Given the description of an element on the screen output the (x, y) to click on. 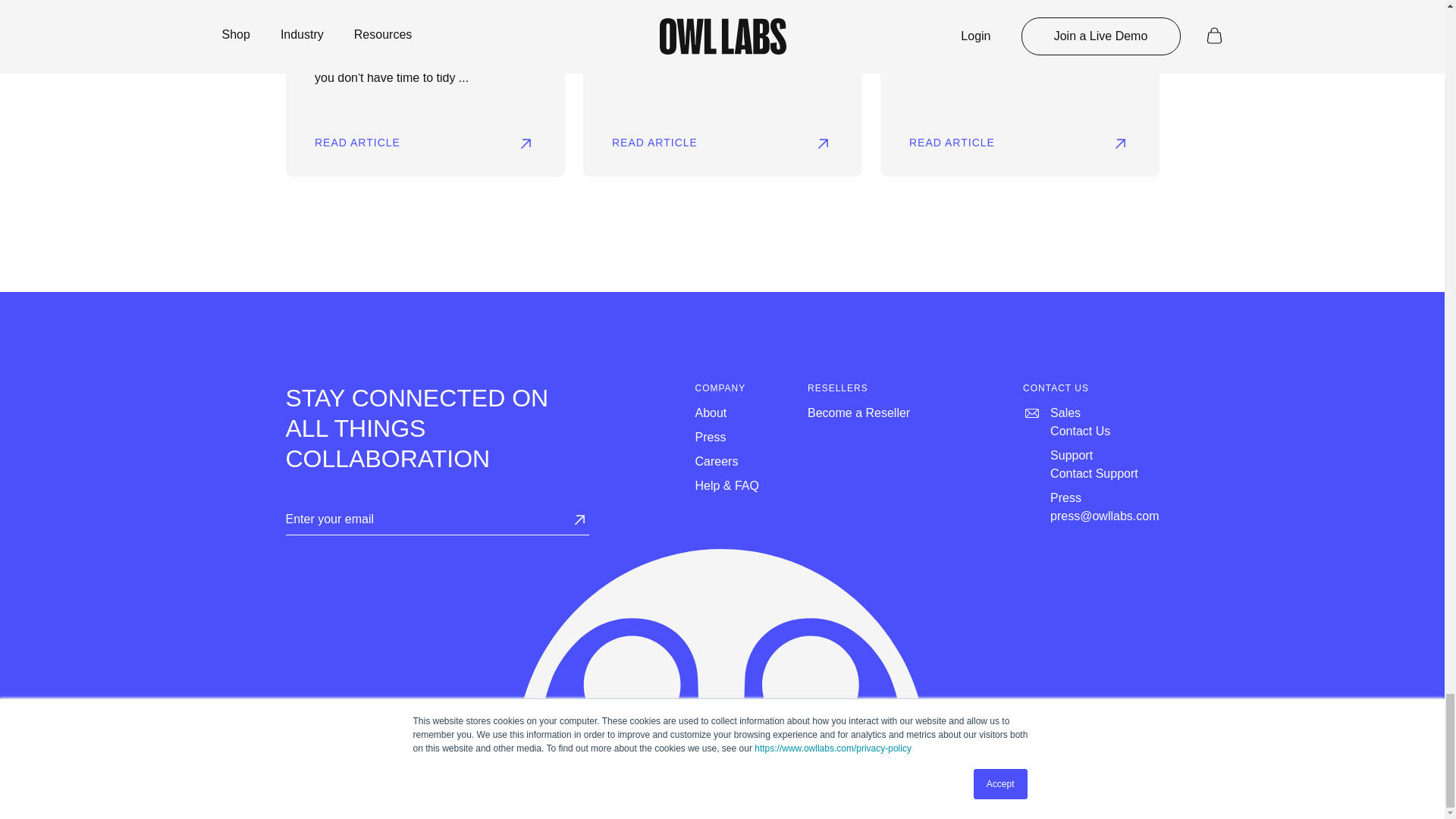
READ ARTICLE (424, 143)
READ ARTICLE (721, 143)
READ ARTICLE (1018, 143)
